Given the description of an element on the screen output the (x, y) to click on. 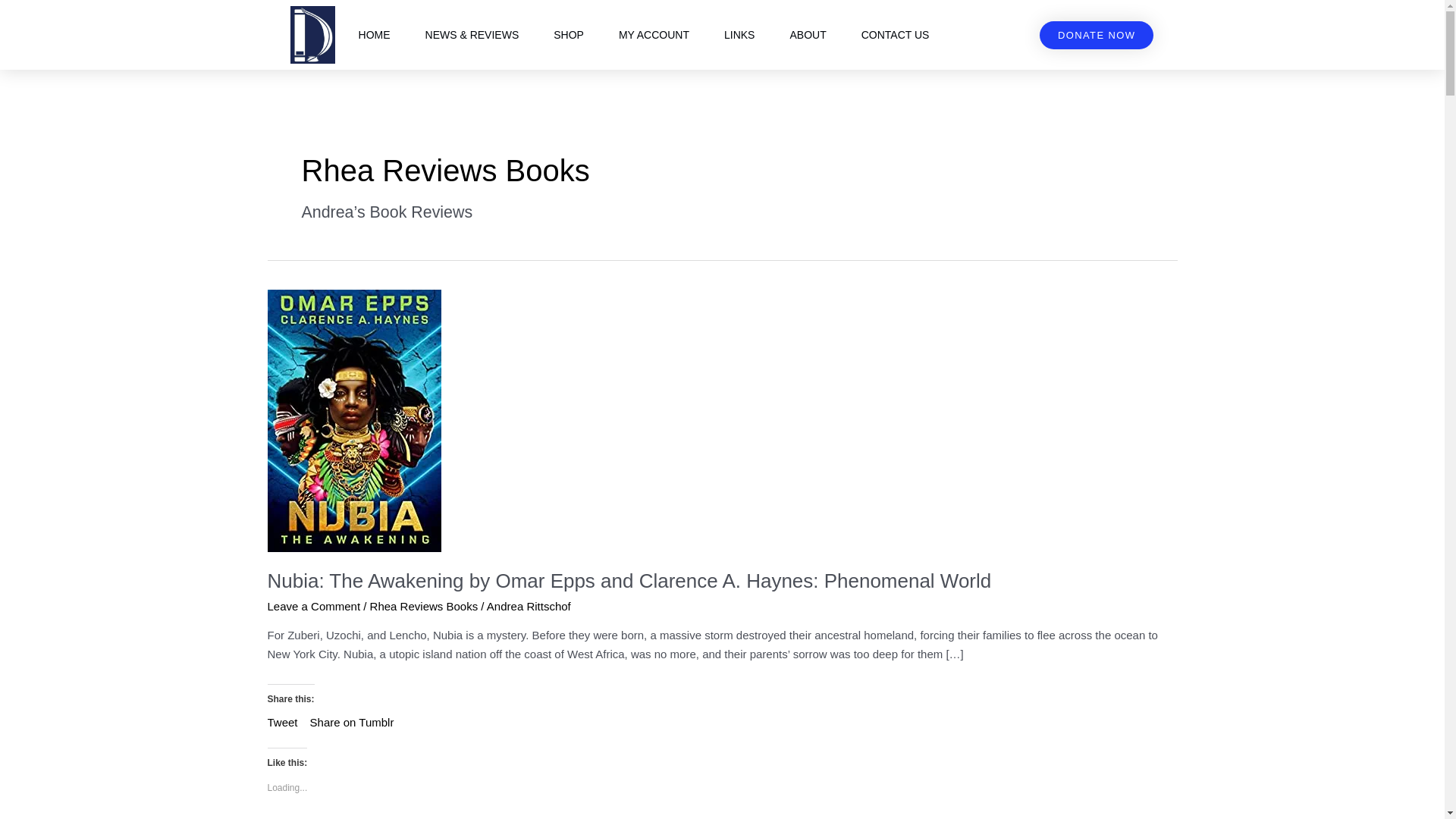
ABOUT (807, 34)
Leave a Comment (312, 605)
View all posts by Andrea Rittschof (528, 605)
Rhea Reviews Books (424, 605)
Share on Tumblr (352, 720)
HOME (374, 34)
Andrea Rittschof (528, 605)
MY ACCOUNT (654, 34)
Tweet (281, 720)
CONTACT US (894, 34)
Share on Tumblr (352, 720)
DONATE NOW (1096, 35)
